Given the description of an element on the screen output the (x, y) to click on. 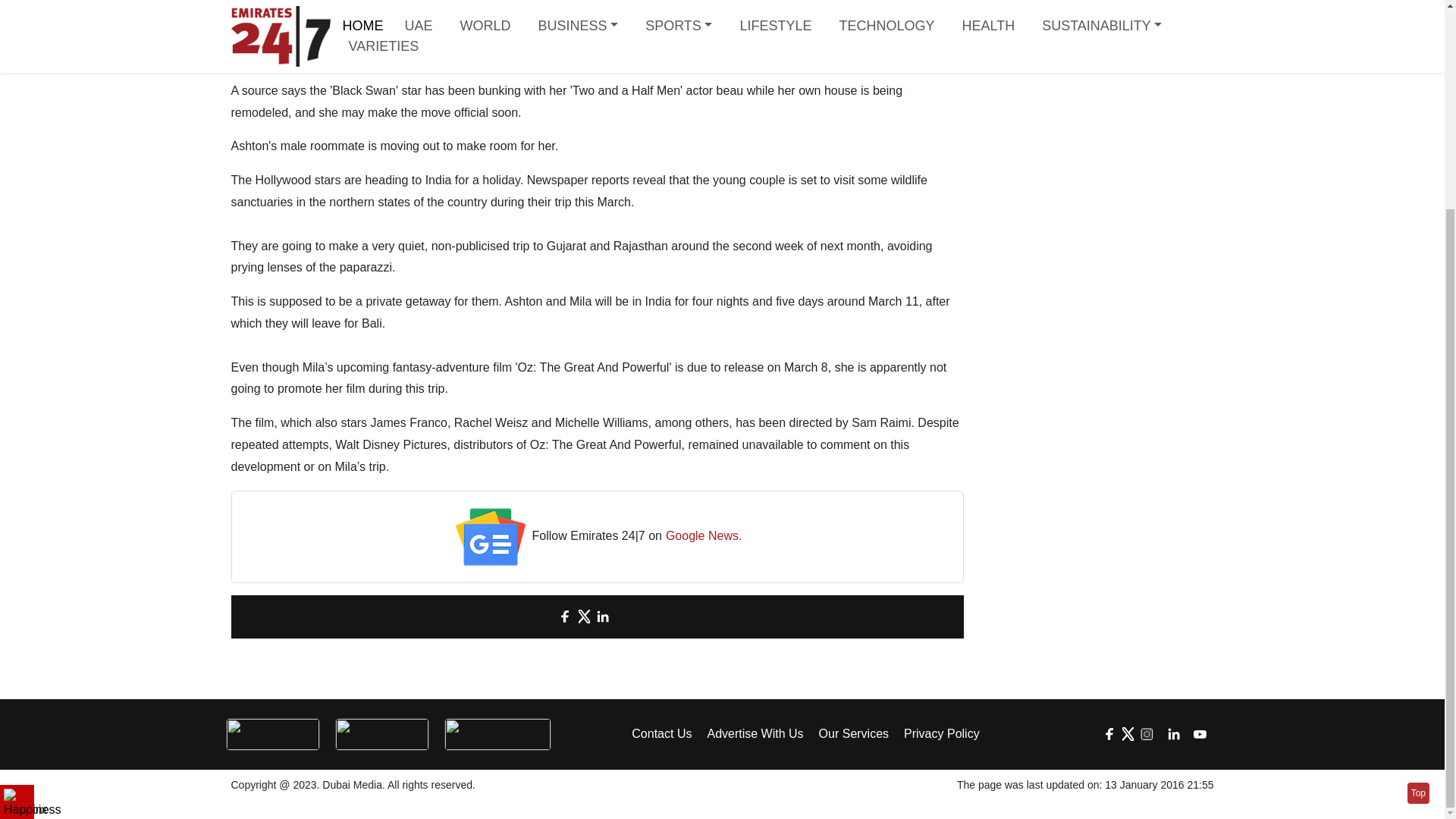
Go to top (1418, 522)
Google News. (703, 536)
